Given the description of an element on the screen output the (x, y) to click on. 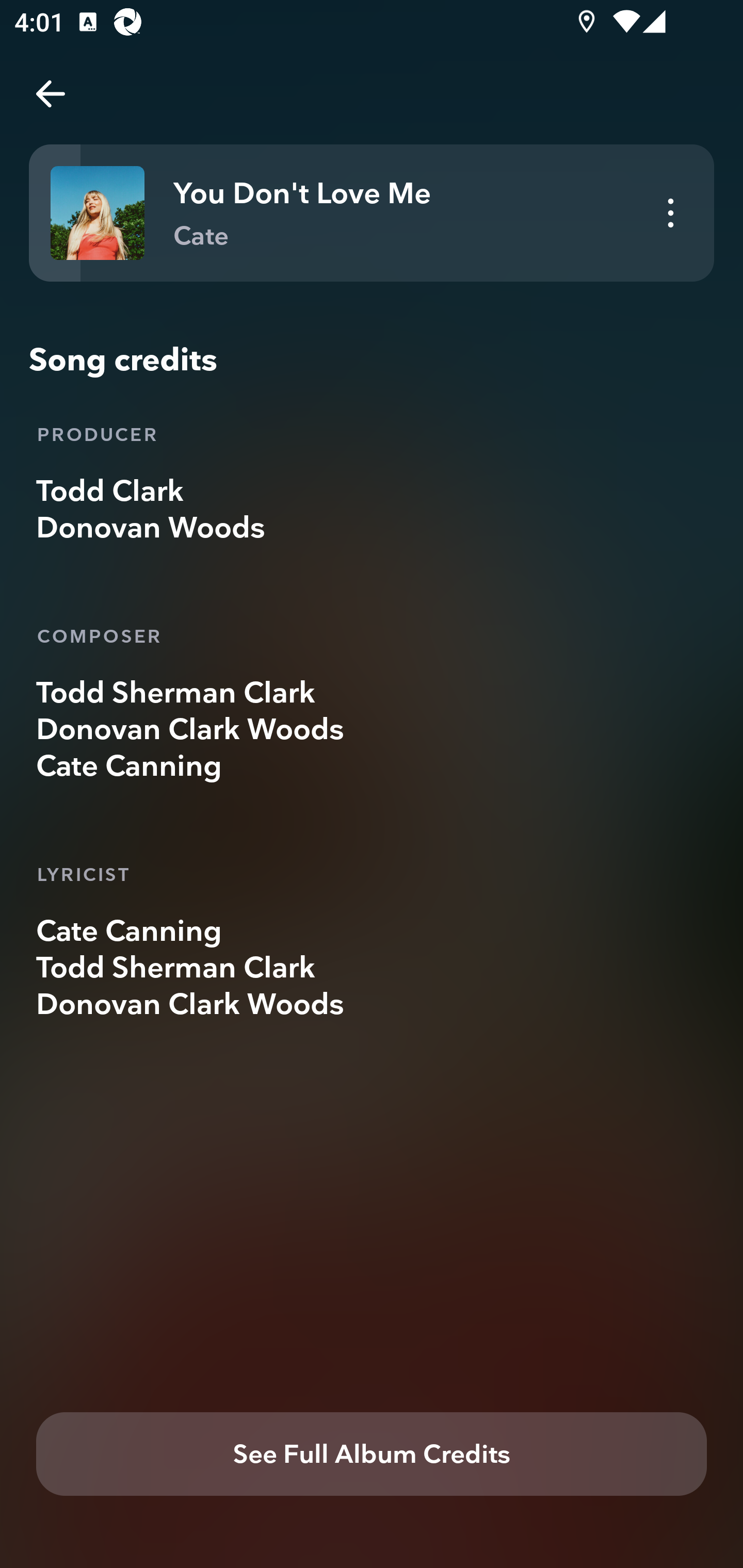
You Don't Love Me Cate (371, 213)
PRODUCER Todd Clark
Donovan Woods
 (371, 480)
See Full Album Credits (371, 1453)
